Given the description of an element on the screen output the (x, y) to click on. 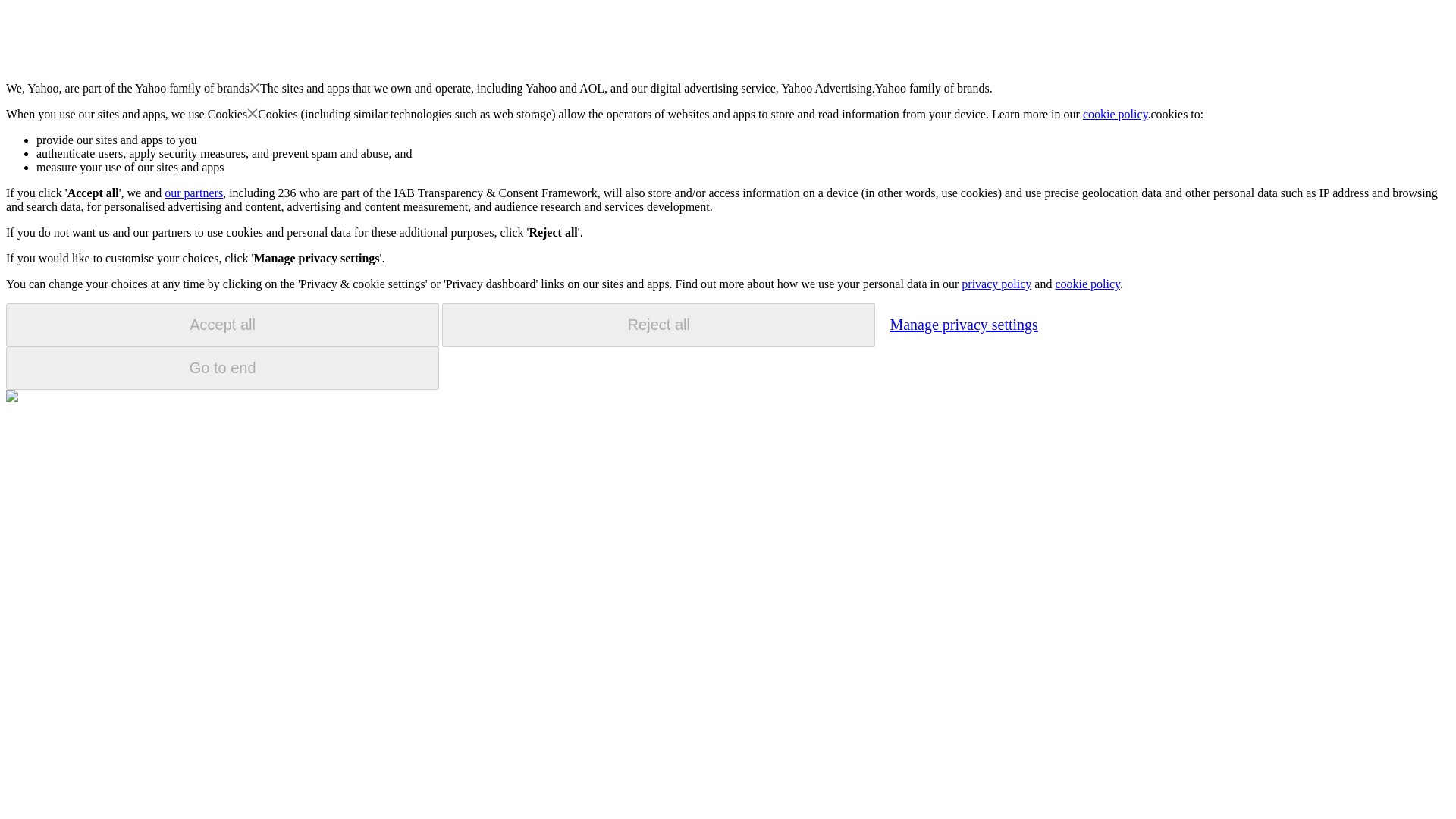
privacy policy (995, 283)
our partners (193, 192)
Reject all (658, 324)
cookie policy (1086, 283)
Manage privacy settings (963, 323)
cookie policy (1115, 113)
Go to end (222, 367)
Accept all (222, 324)
